Given the description of an element on the screen output the (x, y) to click on. 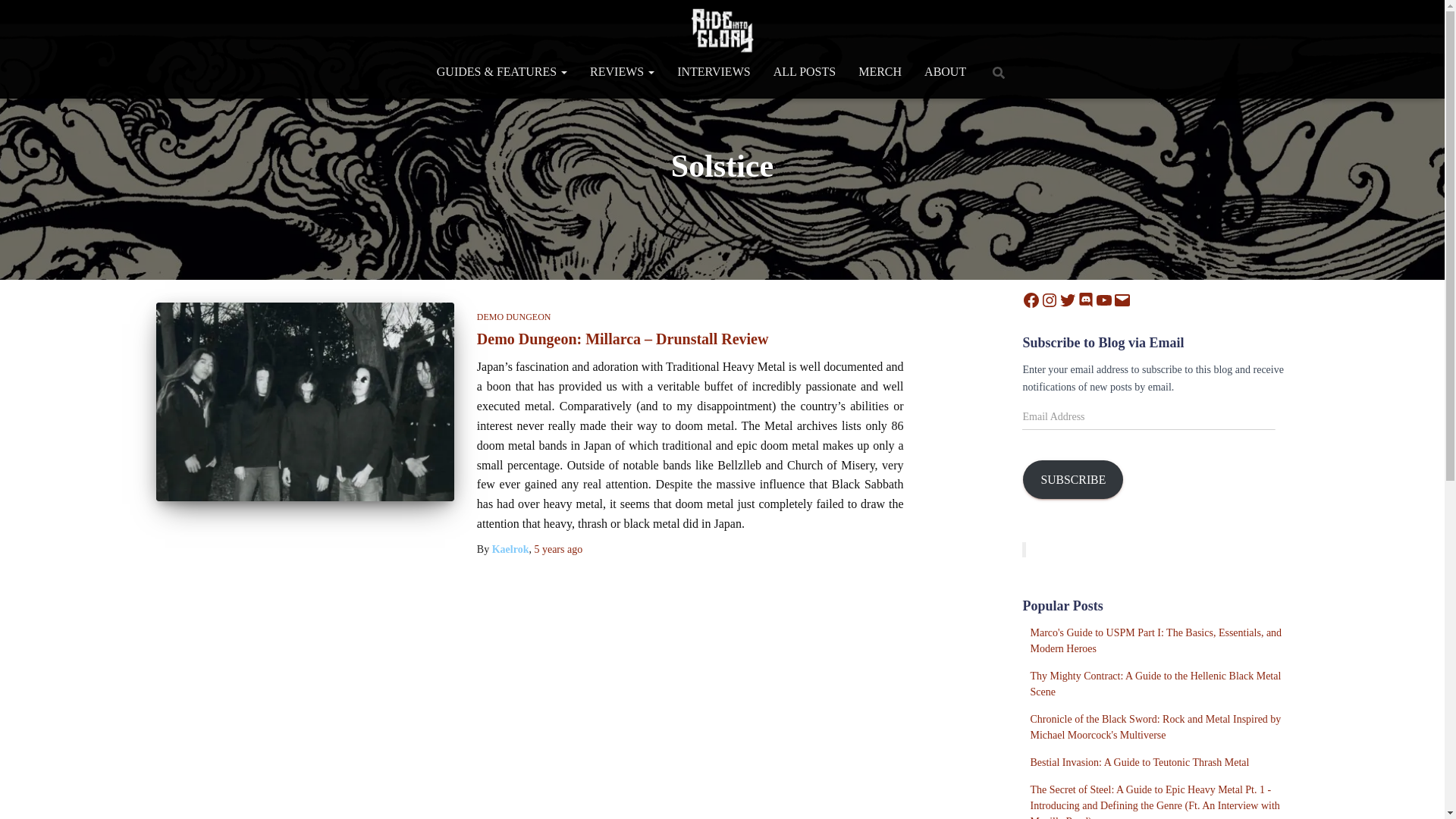
ABOUT (944, 71)
Instagram (1049, 300)
MERCH (879, 71)
Email (1122, 300)
INTERVIEWS (713, 71)
YouTube (1103, 300)
Facebook (1031, 300)
Ride Into Glory (721, 30)
REVIEWS (621, 71)
Discord (1085, 300)
